Given the description of an element on the screen output the (x, y) to click on. 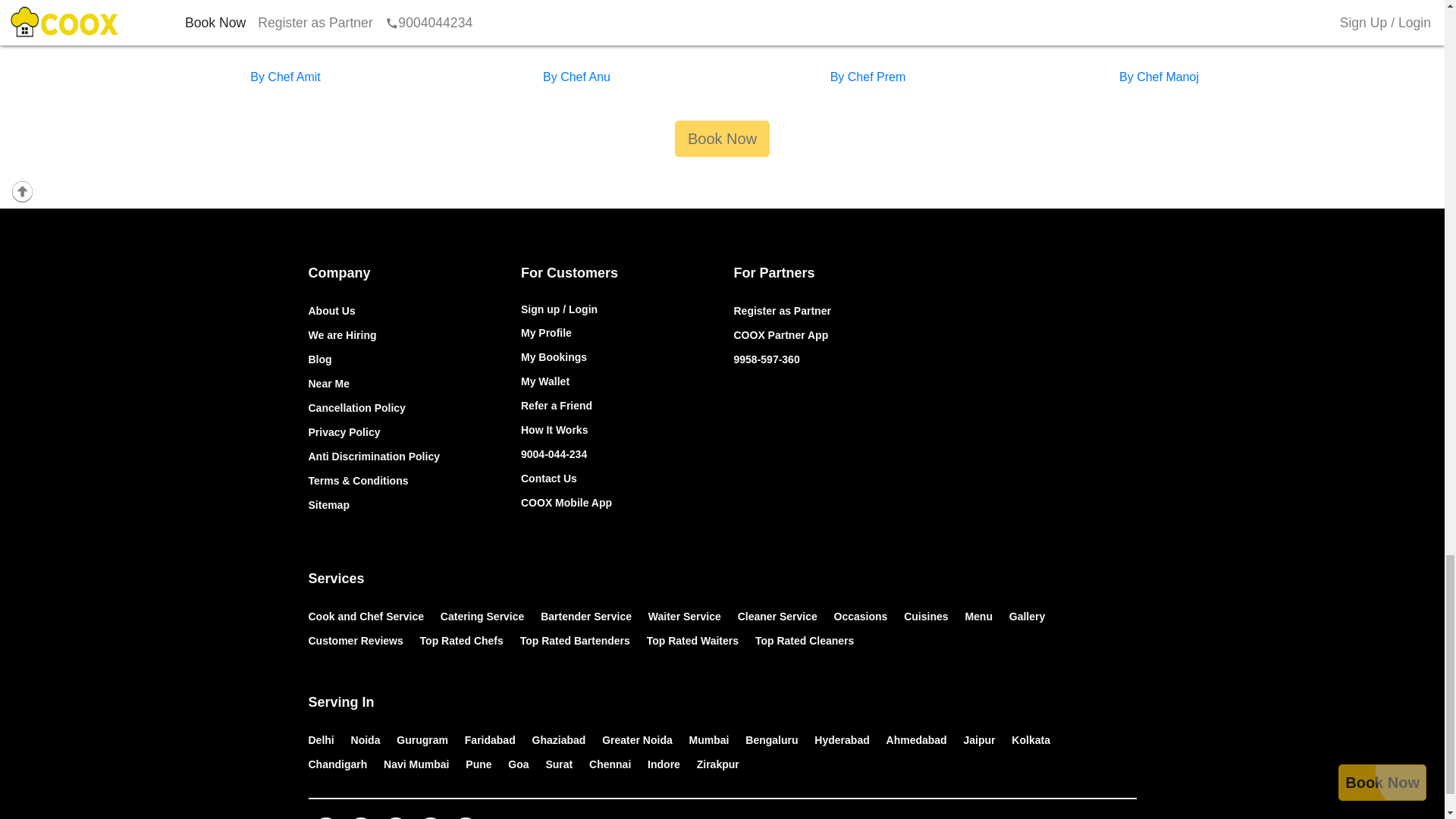
Near Me (328, 383)
By Chef Anu (576, 76)
About Us (331, 310)
By Chef Prem (867, 76)
By Chef Manoj (1158, 76)
Blog (319, 358)
By Chef Amit (285, 76)
Book Now (722, 138)
We are Hiring (341, 335)
